Given the description of an element on the screen output the (x, y) to click on. 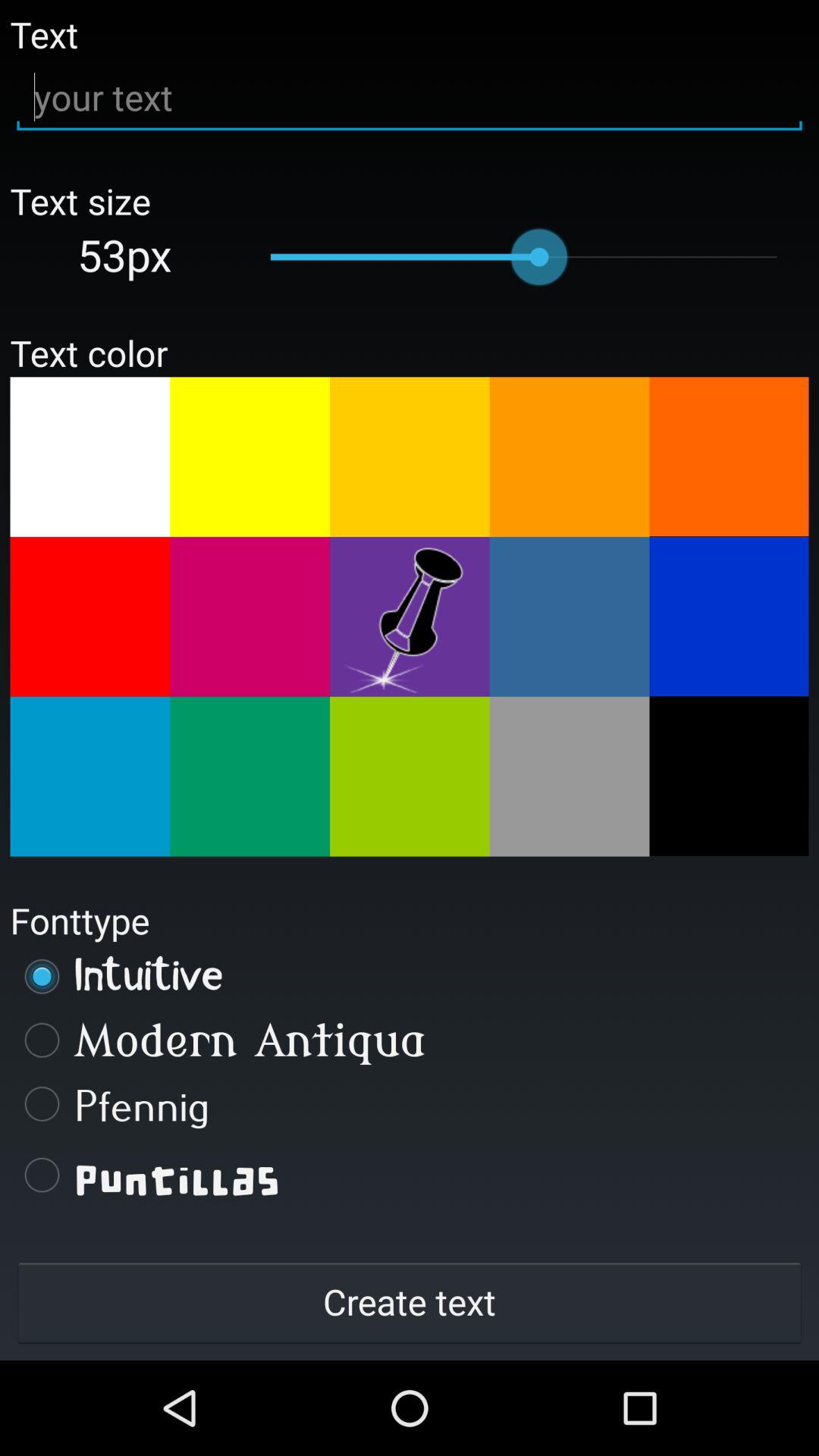
select green color (409, 776)
